Given the description of an element on the screen output the (x, y) to click on. 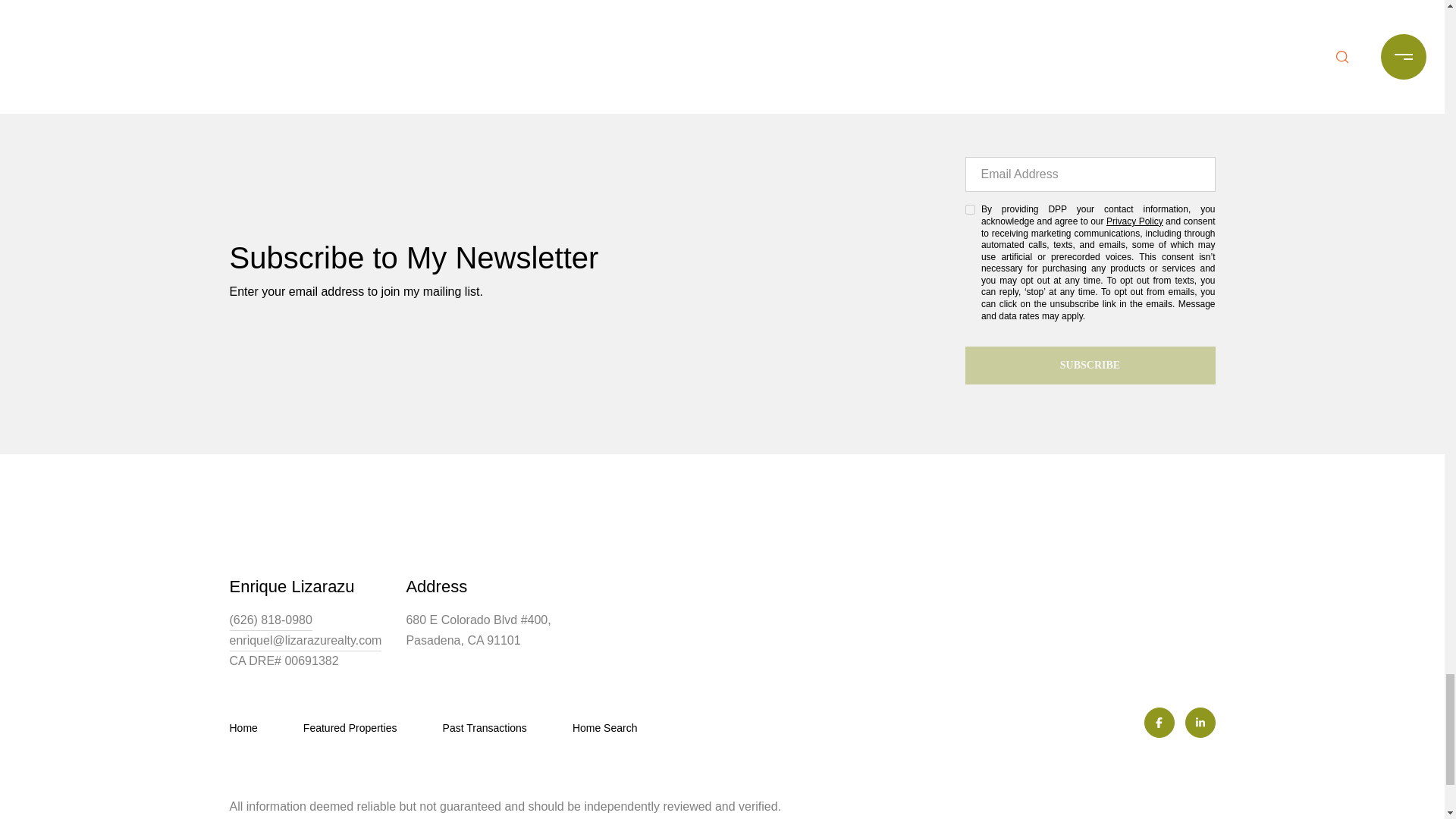
on (968, 209)
